Given the description of an element on the screen output the (x, y) to click on. 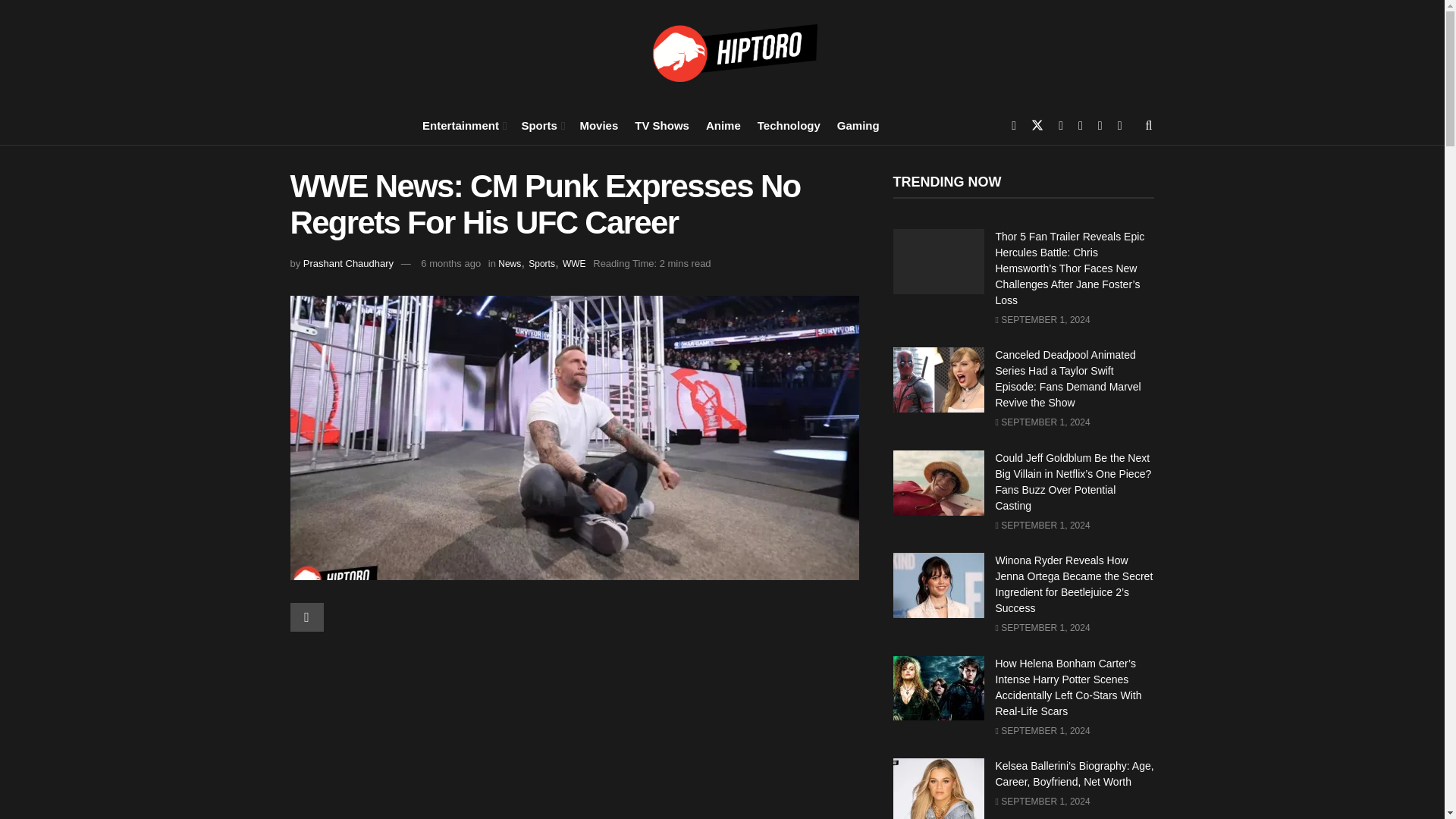
TV Shows (661, 124)
News (509, 263)
Technology (789, 124)
Anime (723, 124)
Advertisement (574, 721)
Gaming (858, 124)
Sports (541, 124)
Prashant Chaudhary (347, 263)
Entertainment (462, 124)
Movies (598, 124)
